Given the description of an element on the screen output the (x, y) to click on. 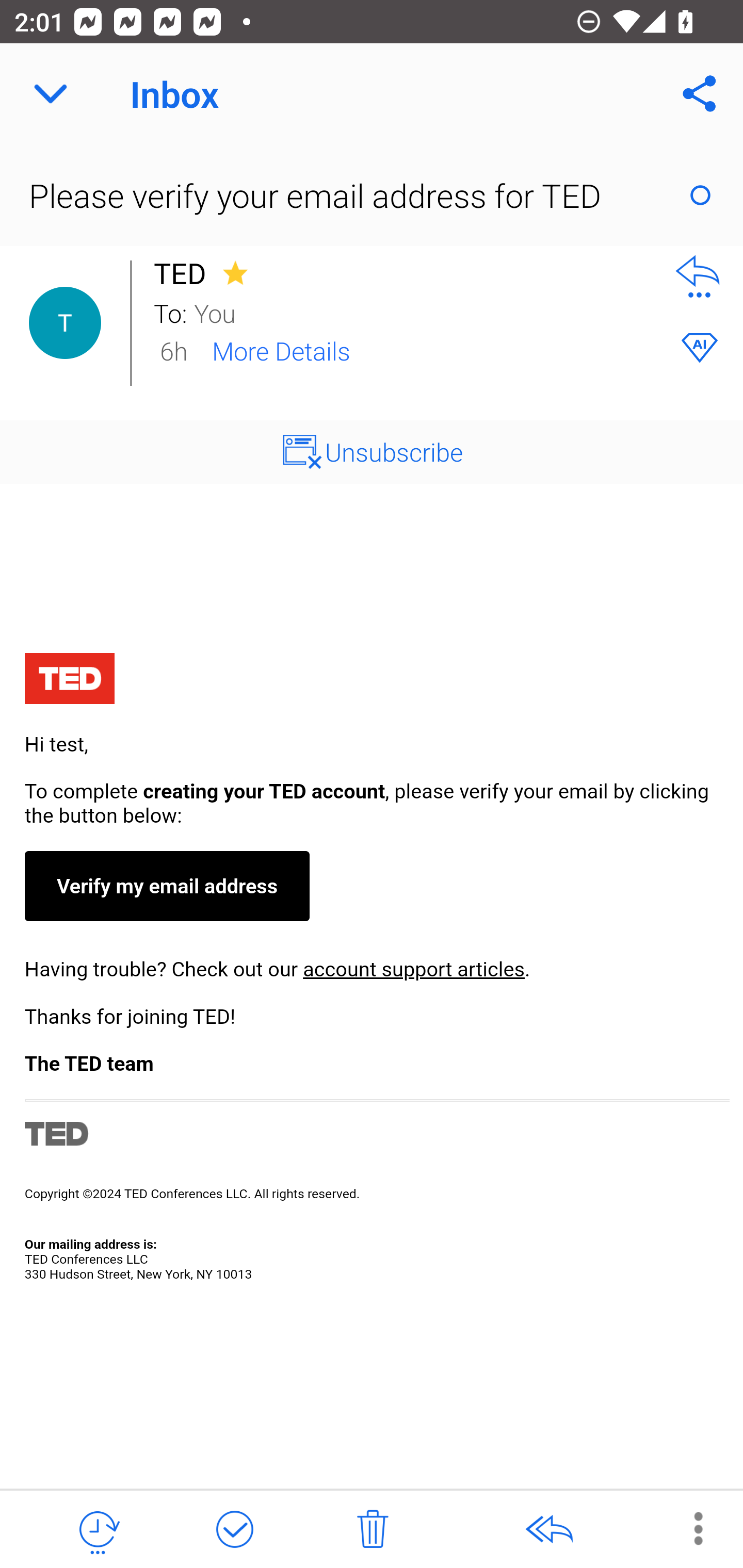
Navigate up (50, 93)
Share (699, 93)
Mark as Read (699, 194)
TED (184, 273)
Unstar (234, 272)
Contact Details (64, 322)
You (422, 311)
More Details (280, 349)
Unsubscribe (393, 451)
ted-transactional-email-logo (69, 680)
Verify my email address (166, 885)
360000254454-Account (371, 968)
account support articles (413, 968)
More Options (687, 1528)
Snooze (97, 1529)
Mark as Done (234, 1529)
Delete (372, 1529)
Reply All (548, 1529)
